Given the description of an element on the screen output the (x, y) to click on. 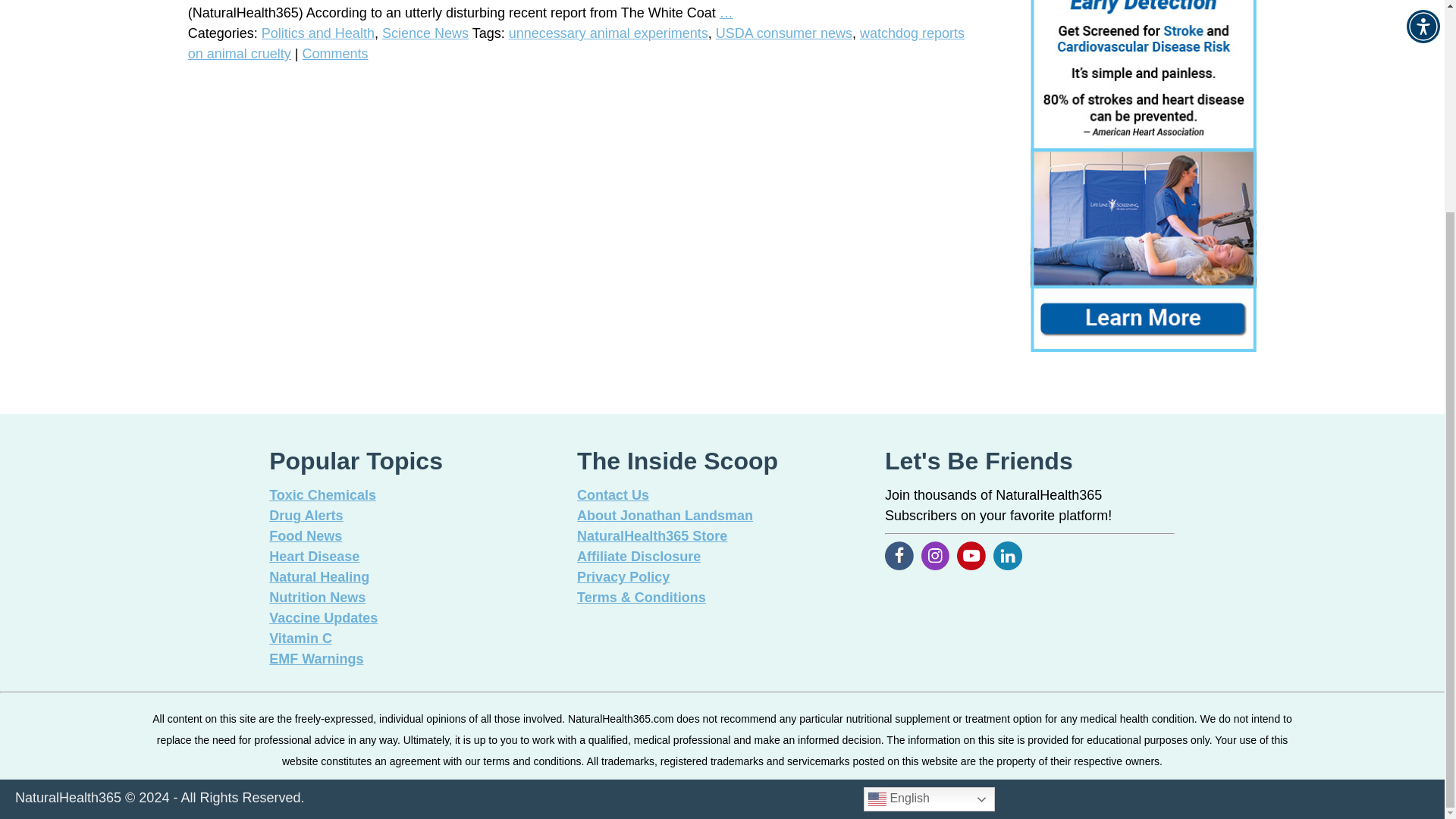
Food News (305, 535)
unnecessary animal experiments (607, 32)
Comments (335, 53)
Drug Alerts (305, 515)
Vitamin C (300, 638)
Nutrition News (317, 597)
Science News (424, 32)
Politics and Health (318, 32)
USDA consumer news (783, 32)
NaturalHealth365 on Facebook (970, 555)
Natural Healing (319, 576)
watchdog reports on animal cruelty (575, 43)
NaturalHealth365 Store (651, 535)
Vaccine Updates (323, 617)
NaturalHealth365 on Instagram (935, 555)
